Given the description of an element on the screen output the (x, y) to click on. 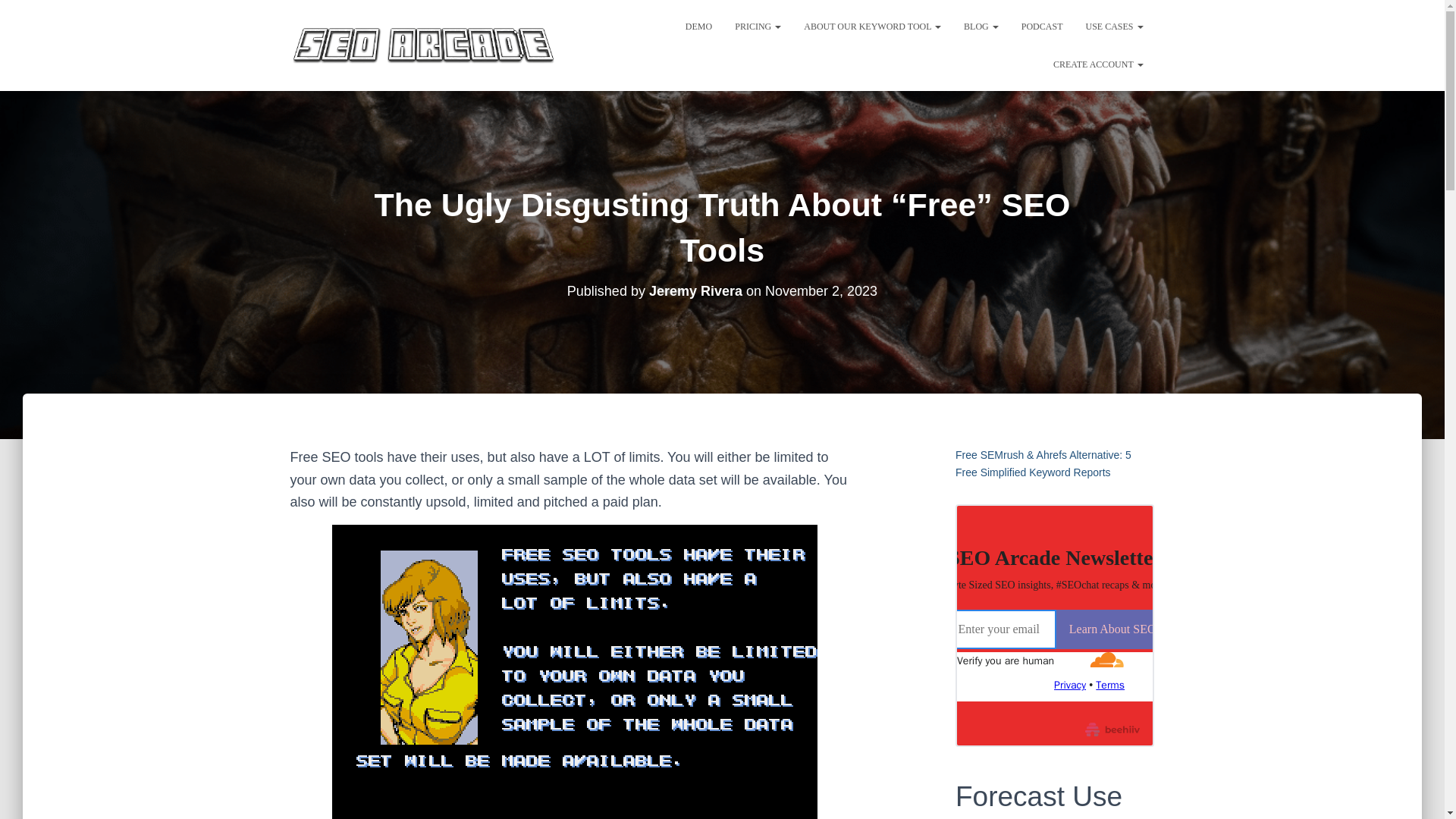
PODCAST (1042, 26)
CREATE ACCOUNT (1098, 64)
ABOUT OUR KEYWORD TOOL (872, 26)
DEMO (698, 26)
About Our Keyword Tool (872, 26)
Demo (698, 26)
Podcast (1042, 26)
Blog (981, 26)
Pricing (757, 26)
USE CASES (1114, 26)
Jeremy Rivera (695, 290)
BLOG (981, 26)
PRICING (757, 26)
